Given the description of an element on the screen output the (x, y) to click on. 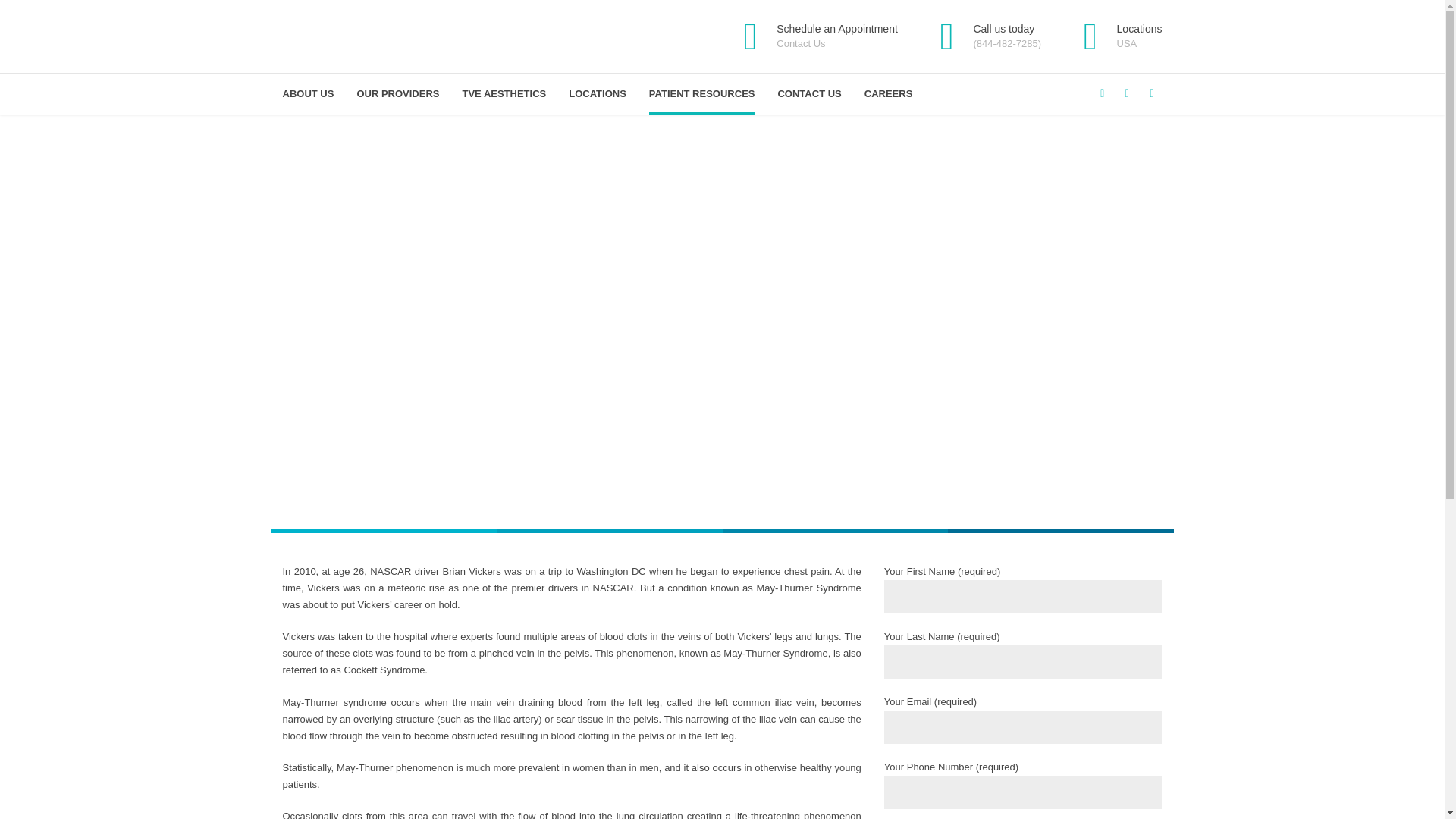
TVE AESTHETICS (1114, 35)
PATIENT RESOURCES (503, 93)
LOCATIONS (702, 93)
OUR PROVIDERS (597, 93)
ABOUT US (813, 35)
